Given the description of an element on the screen output the (x, y) to click on. 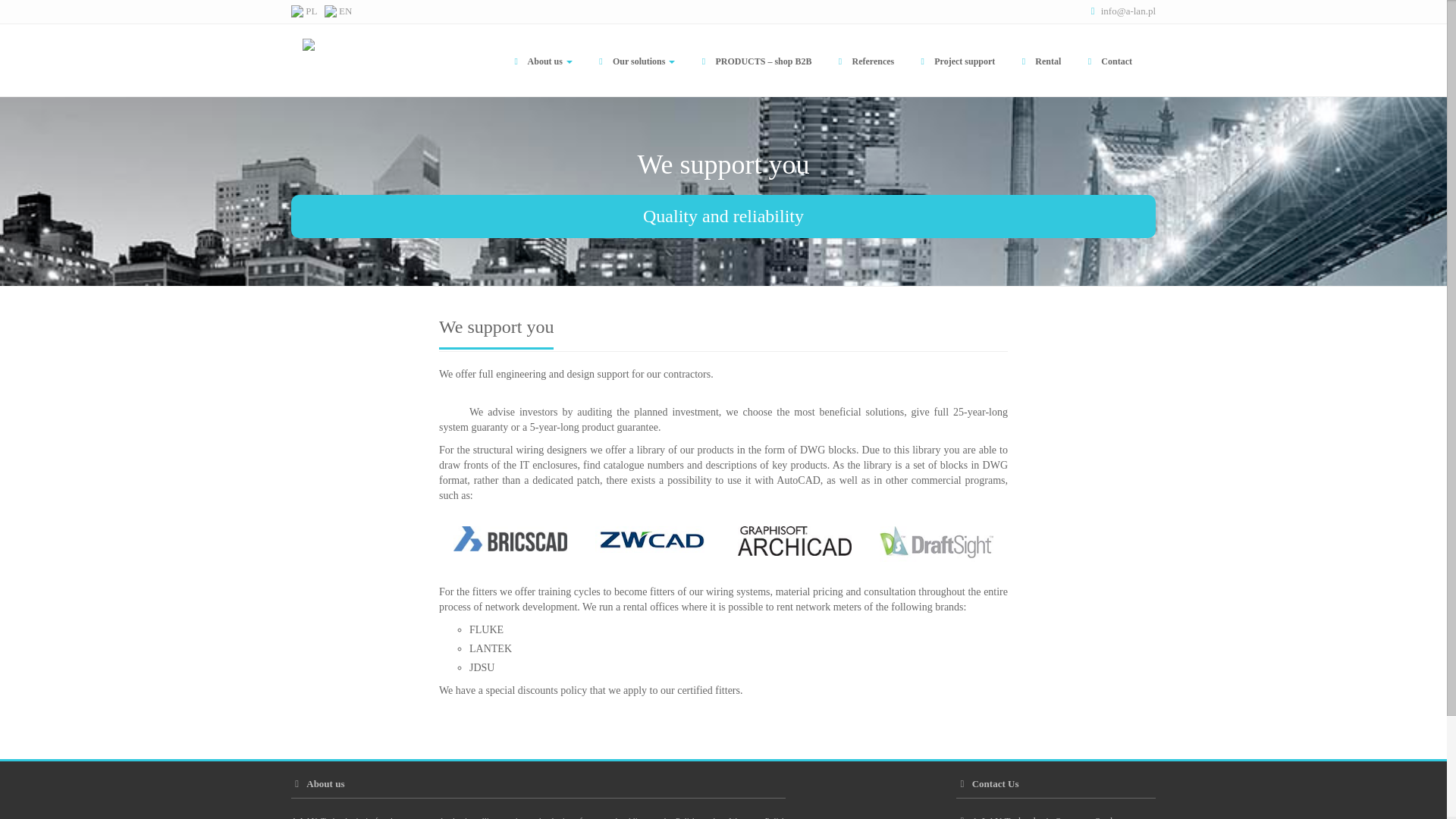
Contact (1106, 61)
About us (541, 61)
Rental (1038, 61)
References (863, 61)
EN (338, 10)
Project support (955, 61)
PL (304, 10)
Our solutions (634, 61)
